Given the description of an element on the screen output the (x, y) to click on. 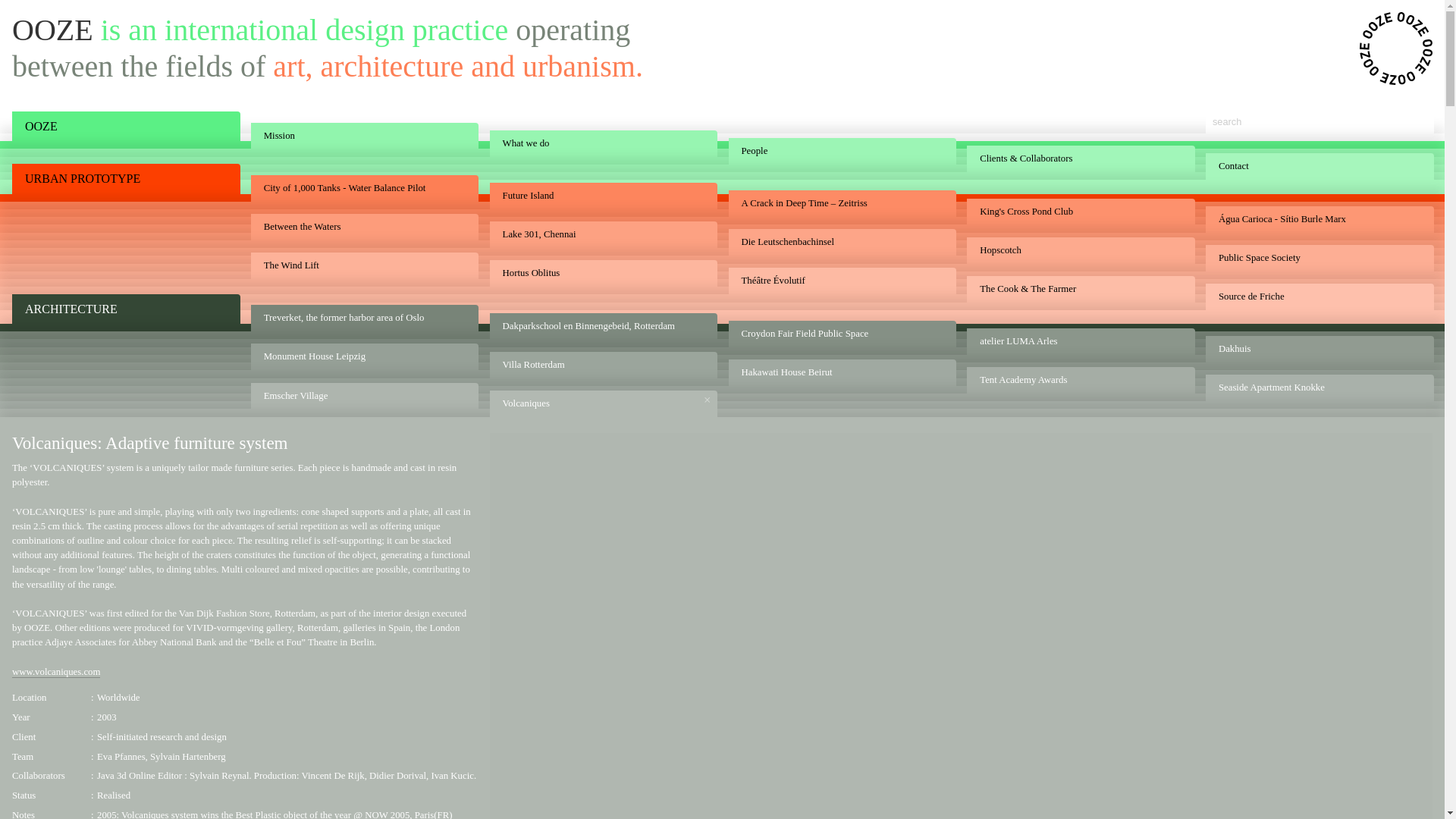
The Wind Lift (358, 266)
People (836, 151)
Dakhuis (1314, 349)
Die Leutschenbachinsel (836, 242)
Lake 301, Chennai (597, 234)
atelier LUMA Arles (1075, 341)
Croydon Fair Field Public Space (836, 334)
URBAN PROTOTYPE (120, 178)
Volcaniques (597, 403)
OOZE (120, 126)
